Given the description of an element on the screen output the (x, y) to click on. 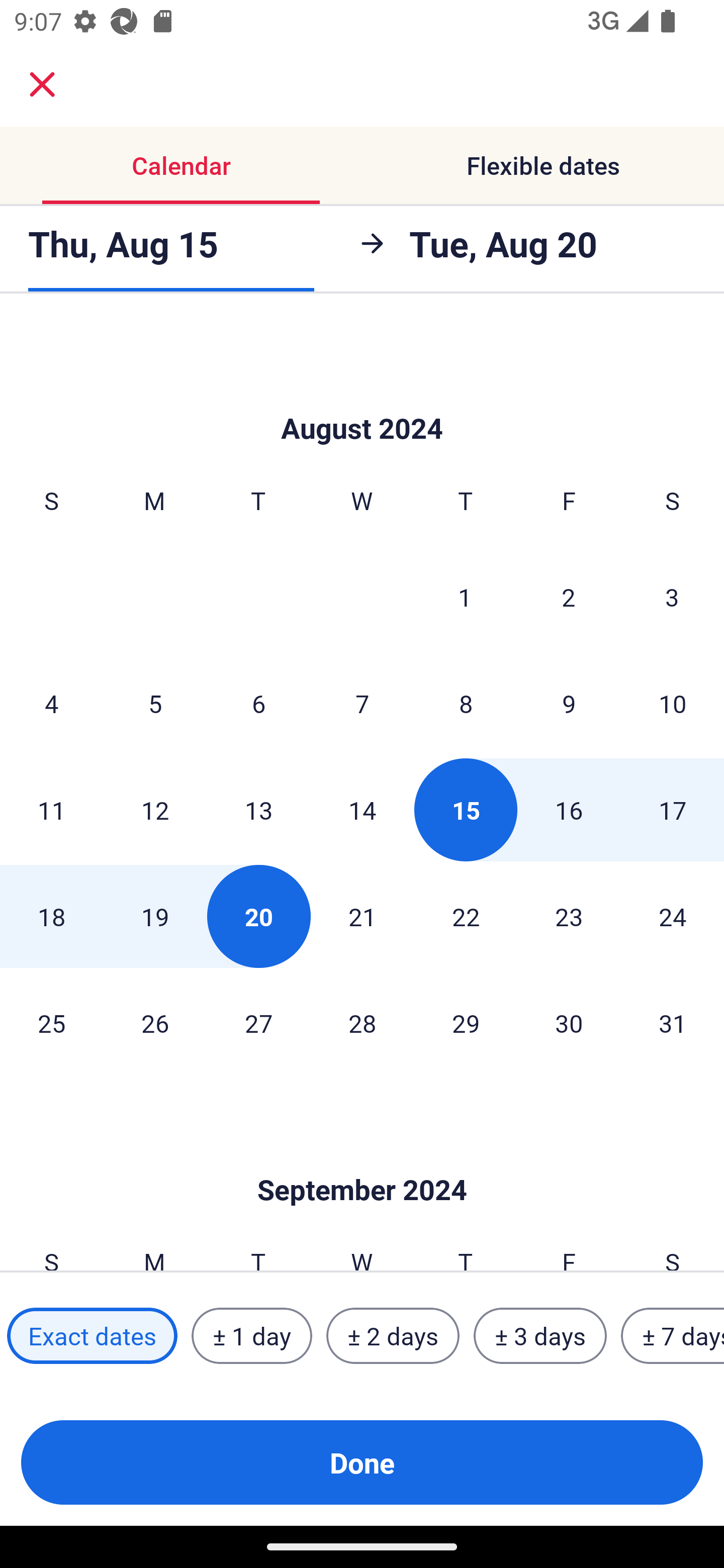
close. (42, 84)
Flexible dates (542, 164)
Skip to Done (362, 397)
1 Thursday, August 1, 2024 (464, 596)
2 Friday, August 2, 2024 (568, 596)
3 Saturday, August 3, 2024 (672, 596)
4 Sunday, August 4, 2024 (51, 703)
5 Monday, August 5, 2024 (155, 703)
6 Tuesday, August 6, 2024 (258, 703)
7 Wednesday, August 7, 2024 (362, 703)
8 Thursday, August 8, 2024 (465, 703)
9 Friday, August 9, 2024 (569, 703)
10 Saturday, August 10, 2024 (672, 703)
11 Sunday, August 11, 2024 (51, 809)
12 Monday, August 12, 2024 (155, 809)
13 Tuesday, August 13, 2024 (258, 809)
14 Wednesday, August 14, 2024 (362, 809)
21 Wednesday, August 21, 2024 (362, 916)
22 Thursday, August 22, 2024 (465, 916)
23 Friday, August 23, 2024 (569, 916)
24 Saturday, August 24, 2024 (672, 916)
25 Sunday, August 25, 2024 (51, 1023)
26 Monday, August 26, 2024 (155, 1023)
27 Tuesday, August 27, 2024 (258, 1023)
28 Wednesday, August 28, 2024 (362, 1023)
29 Thursday, August 29, 2024 (465, 1023)
30 Friday, August 30, 2024 (569, 1023)
31 Saturday, August 31, 2024 (672, 1023)
Skip to Done (362, 1159)
Exact dates (92, 1335)
± 1 day (251, 1335)
± 2 days (392, 1335)
± 3 days (539, 1335)
± 7 days (672, 1335)
Done (361, 1462)
